Given the description of an element on the screen output the (x, y) to click on. 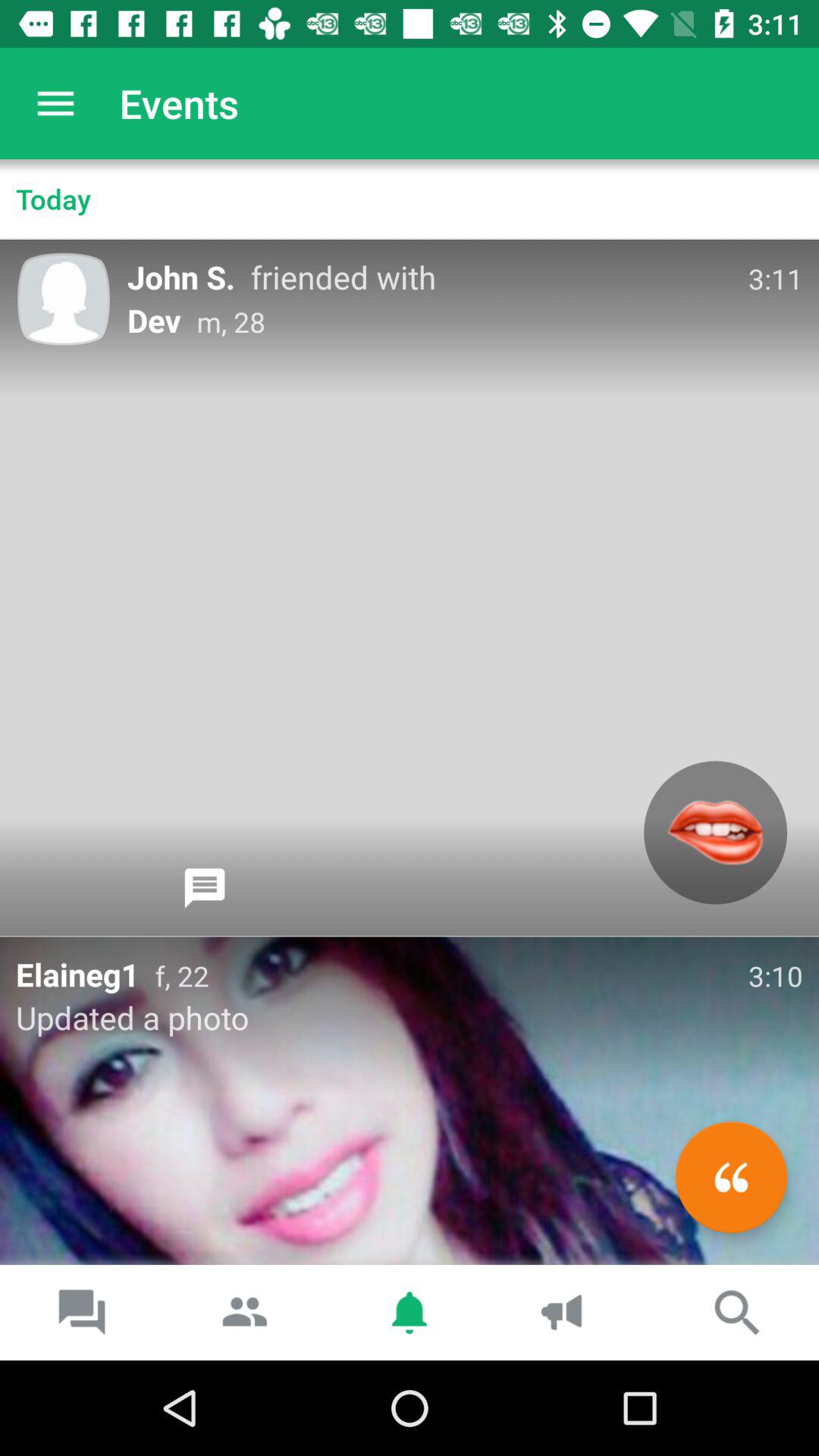
click app next to events item (55, 103)
